Given the description of an element on the screen output the (x, y) to click on. 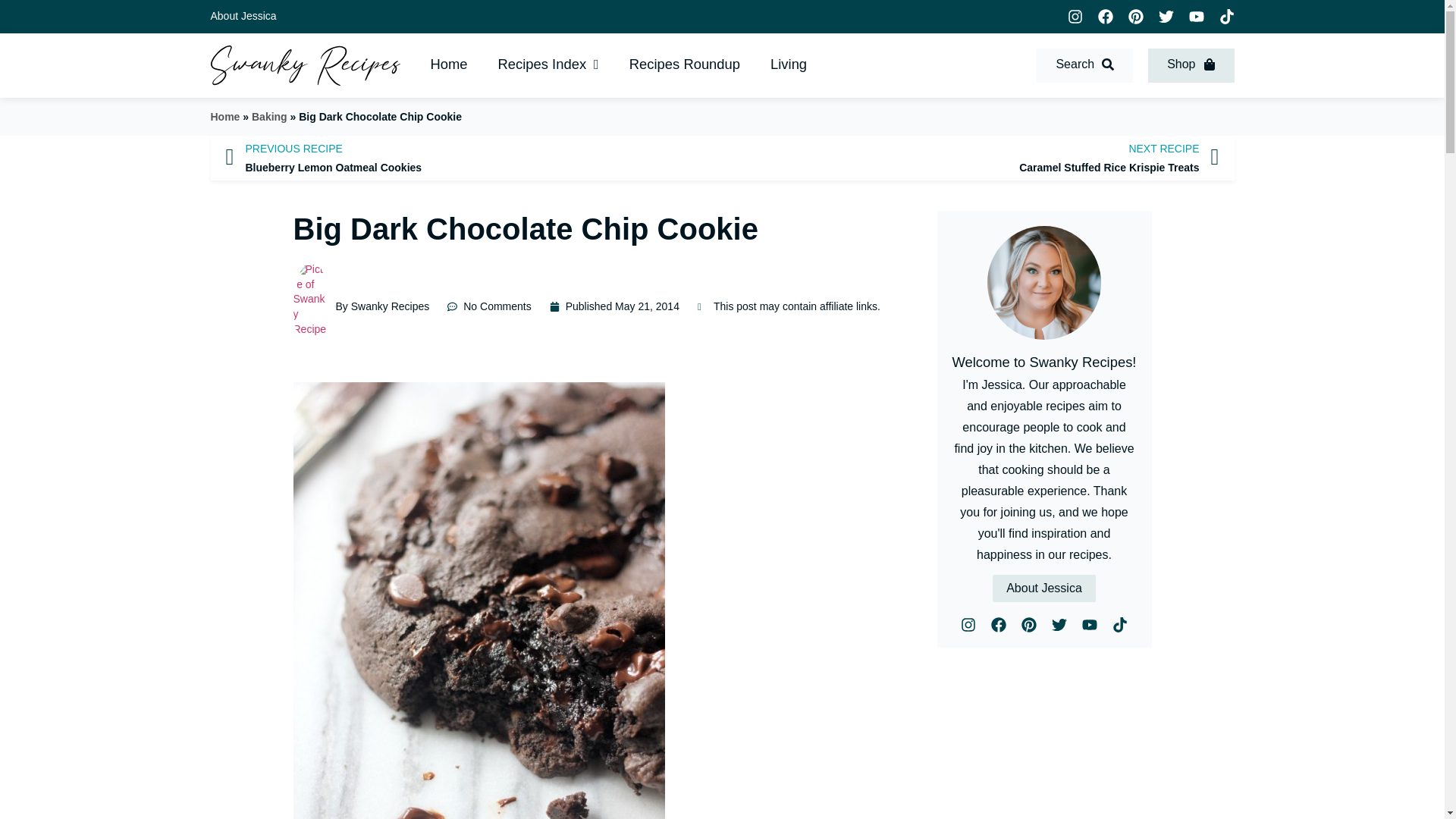
Baking (268, 116)
Recipes Roundup (684, 65)
Living (459, 157)
Shop (788, 65)
Recipes Index (1190, 65)
Search (548, 65)
No Comments (984, 157)
Home (1084, 65)
By Swanky Recipes (488, 306)
About Jessica (448, 65)
Home (360, 307)
